Given the description of an element on the screen output the (x, y) to click on. 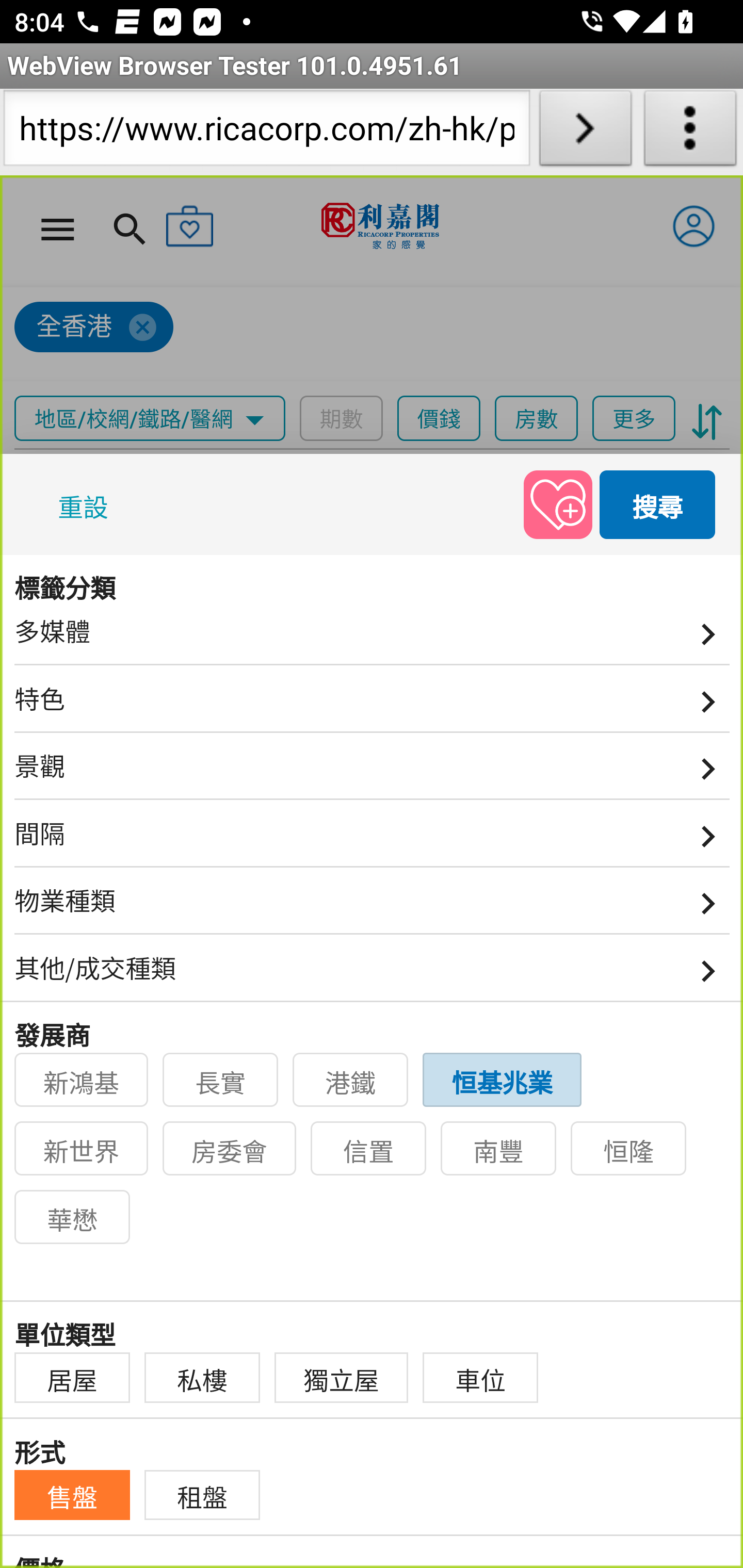
https://www.ricacorp.com/zh-hk/property/list/buy (266, 132)
Load URL (585, 132)
About WebView (690, 132)
重設 (86, 503)
save (557, 503)
搜尋 (657, 503)
室內相 (63, 580)
多媒體 (372, 637)
特色 (372, 704)
景觀 (372, 772)
間隔 (372, 840)
物業種類 (372, 907)
其他/成交種類 (372, 974)
新鴻基 (81, 1080)
長實 (220, 1080)
港鐵 (350, 1080)
恒基兆業 (502, 1080)
新世界 (81, 1149)
房委會 (229, 1149)
信置 (368, 1149)
南豐 (498, 1149)
恒隆 (629, 1149)
華懋 (72, 1217)
居屋 (72, 1377)
私樓 (202, 1377)
獨立屋 (341, 1377)
車位 (480, 1377)
售盤 (72, 1494)
租盤 (202, 1494)
